Given the description of an element on the screen output the (x, y) to click on. 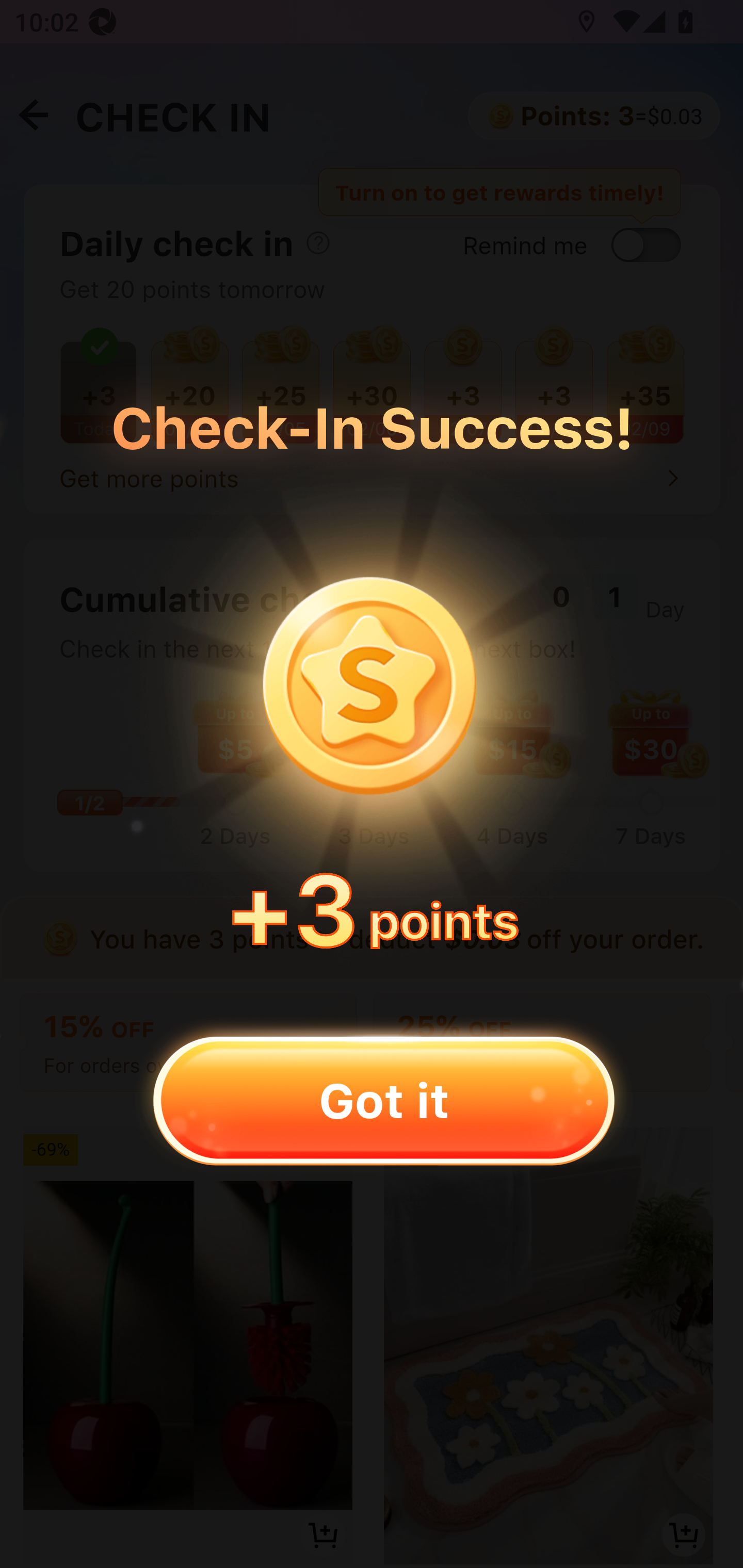
Got it (383, 1099)
